Given the description of an element on the screen output the (x, y) to click on. 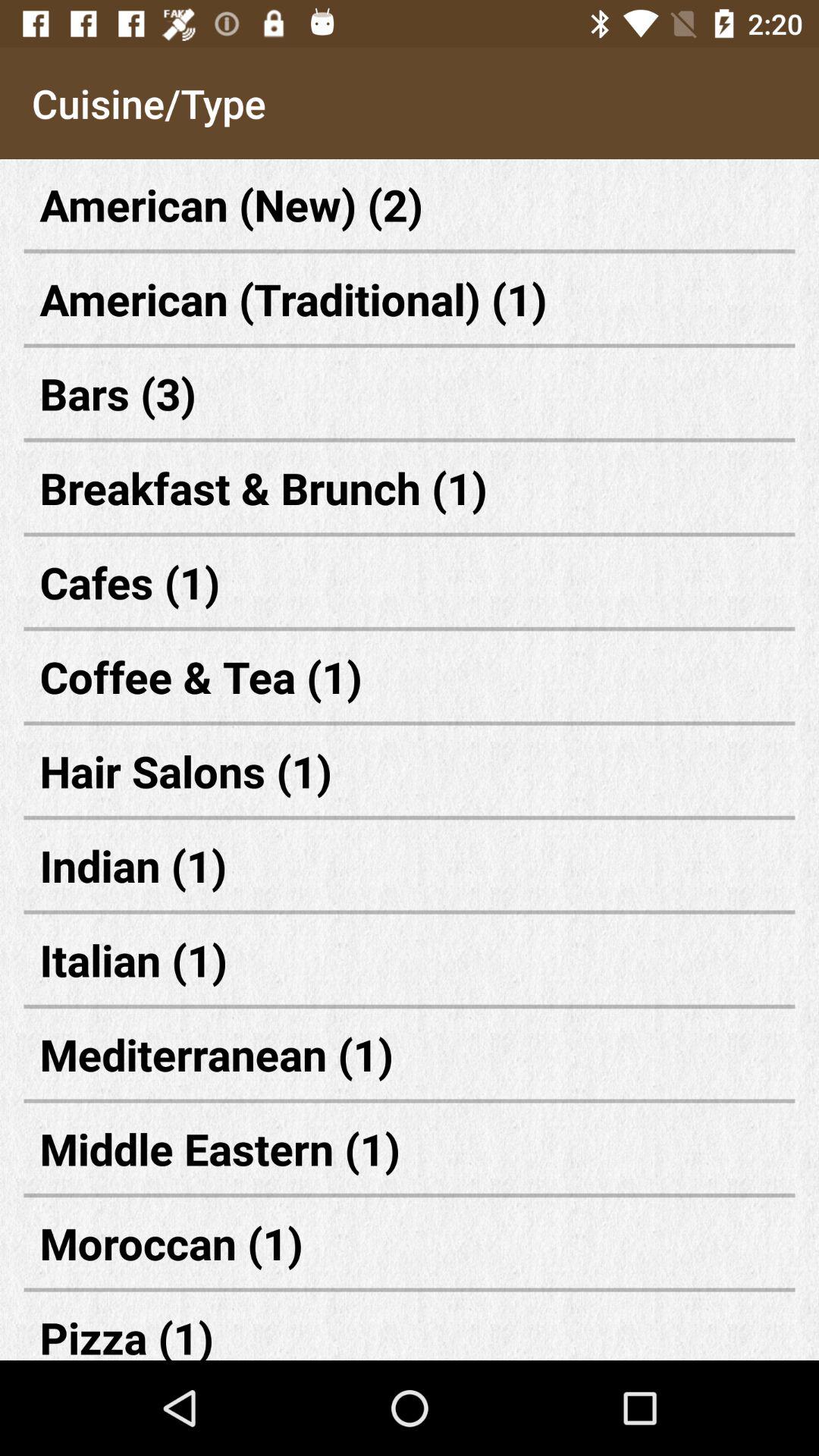
select the icon below the middle eastern (1) icon (409, 1242)
